Given the description of an element on the screen output the (x, y) to click on. 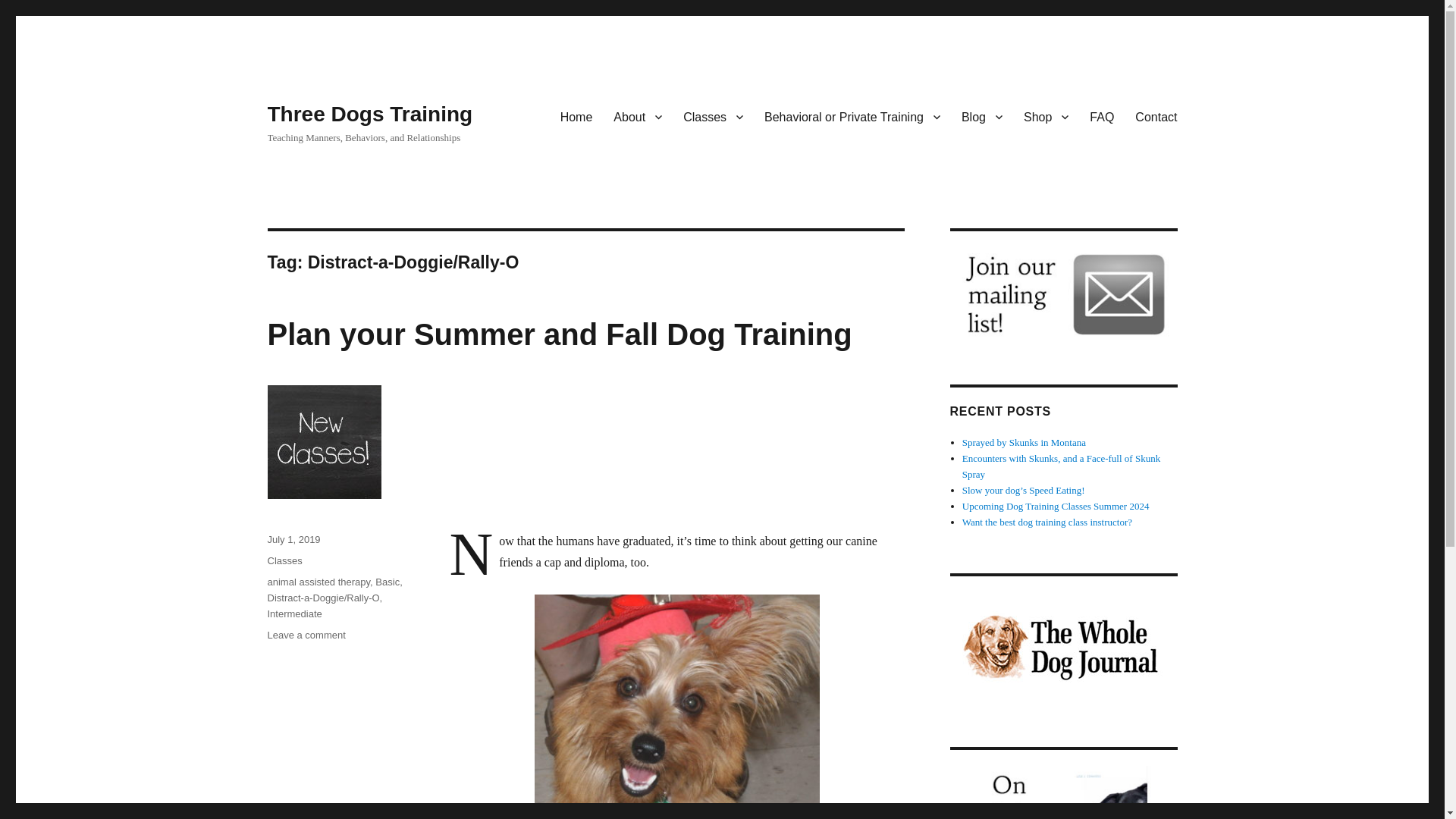
Behavioral or Private Training (852, 116)
Shop (1045, 116)
About (637, 116)
Home (577, 116)
Classes (713, 116)
Three Dogs Training (368, 114)
Blog (981, 116)
